Given the description of an element on the screen output the (x, y) to click on. 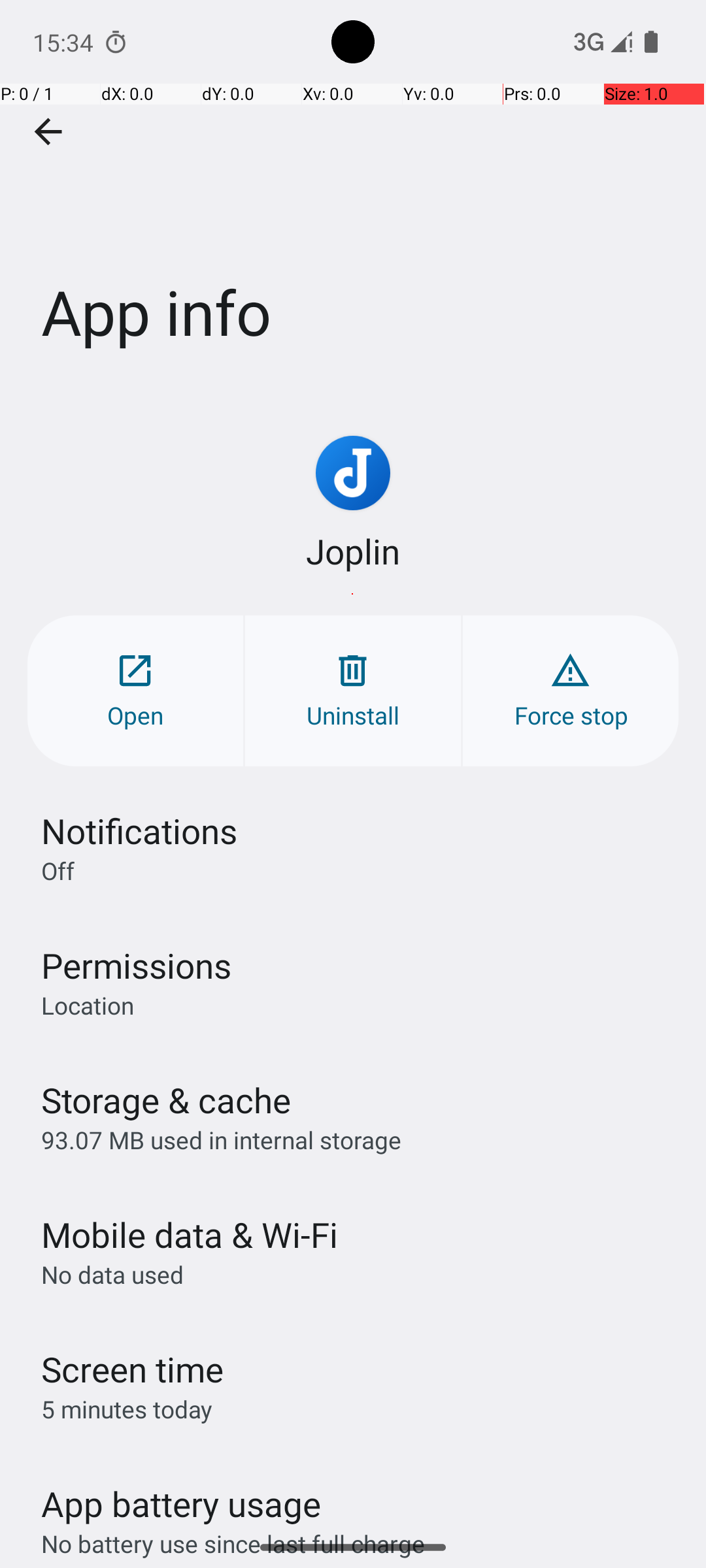
93.07 MB used in internal storage Element type: android.widget.TextView (221, 1139)
5 minutes today Element type: android.widget.TextView (127, 1408)
